Given the description of an element on the screen output the (x, y) to click on. 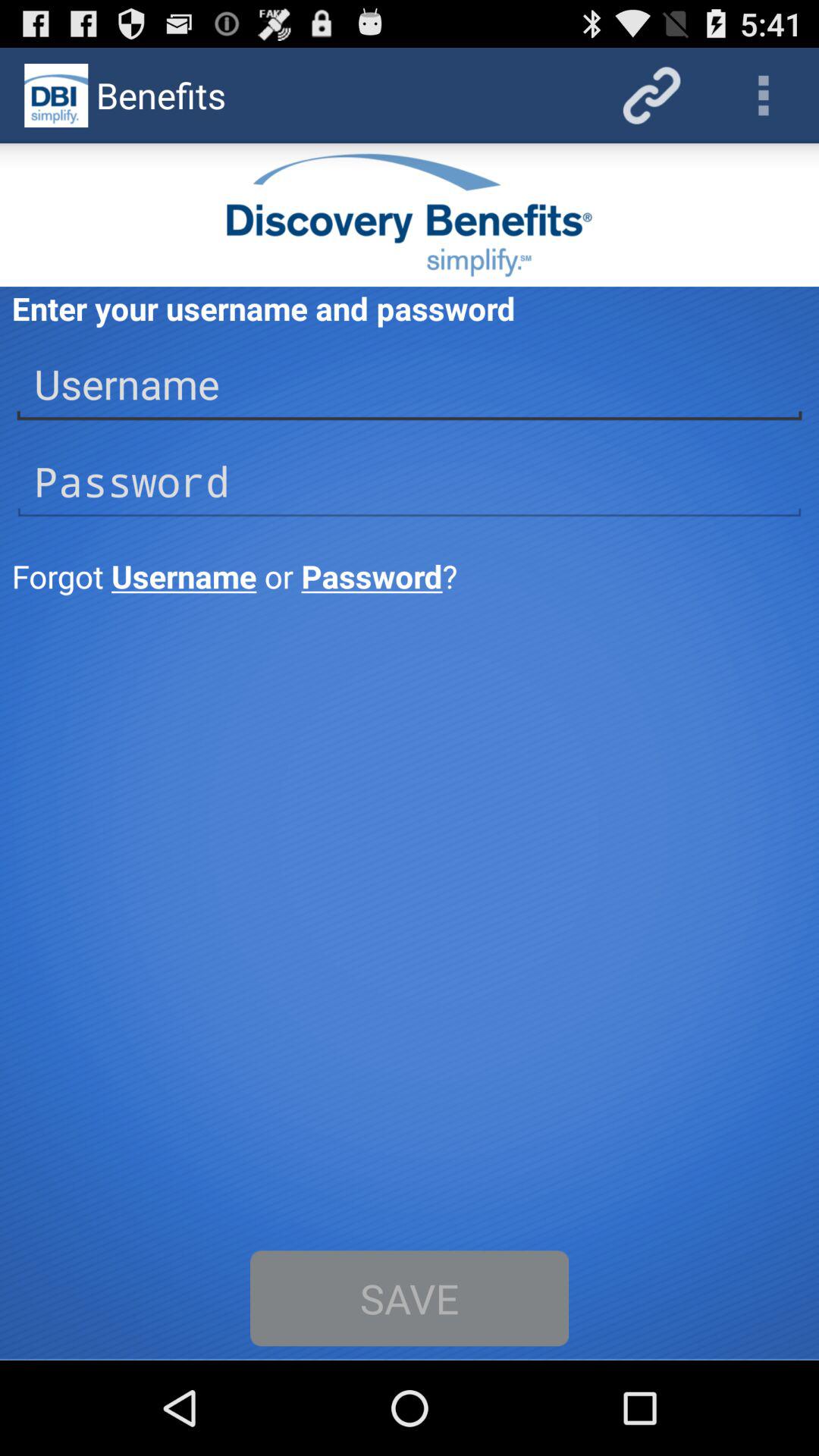
input username (409, 384)
